Given the description of an element on the screen output the (x, y) to click on. 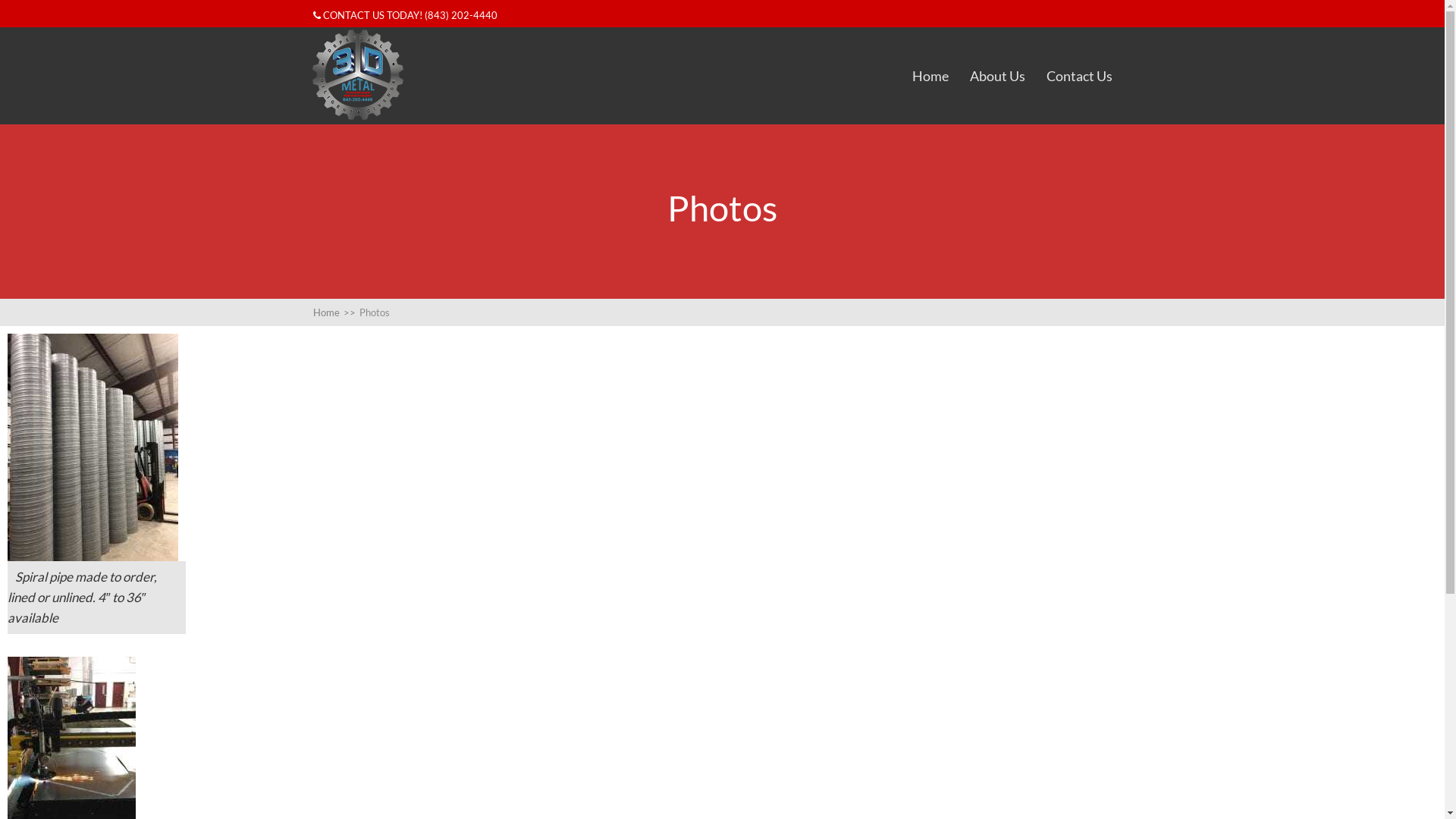
Home >> Element type: text (335, 312)
Contact Us Element type: text (1079, 75)
CONTACT US TODAY! (843) 202-4440 Element type: text (404, 15)
About Us Element type: text (997, 75)
Home Element type: text (930, 75)
